Given the description of an element on the screen output the (x, y) to click on. 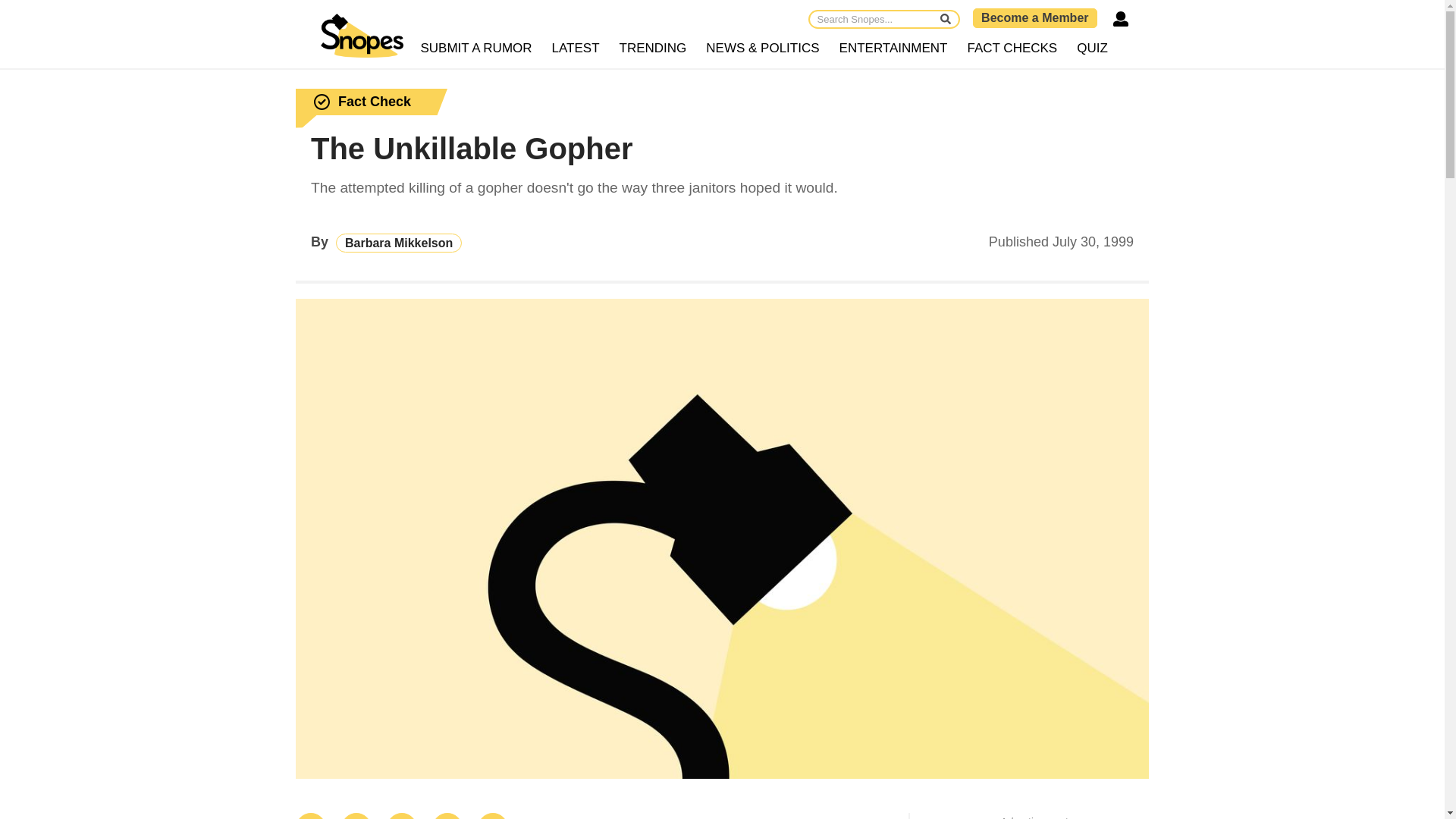
ENTERTAINMENT (893, 47)
LATEST (576, 47)
TRENDING (653, 47)
SUBMIT A RUMOR (475, 47)
Become a Member (1034, 17)
QUIZ (1092, 47)
Barbara Mikkelson (398, 242)
FACT CHECKS (1011, 47)
